Given the description of an element on the screen output the (x, y) to click on. 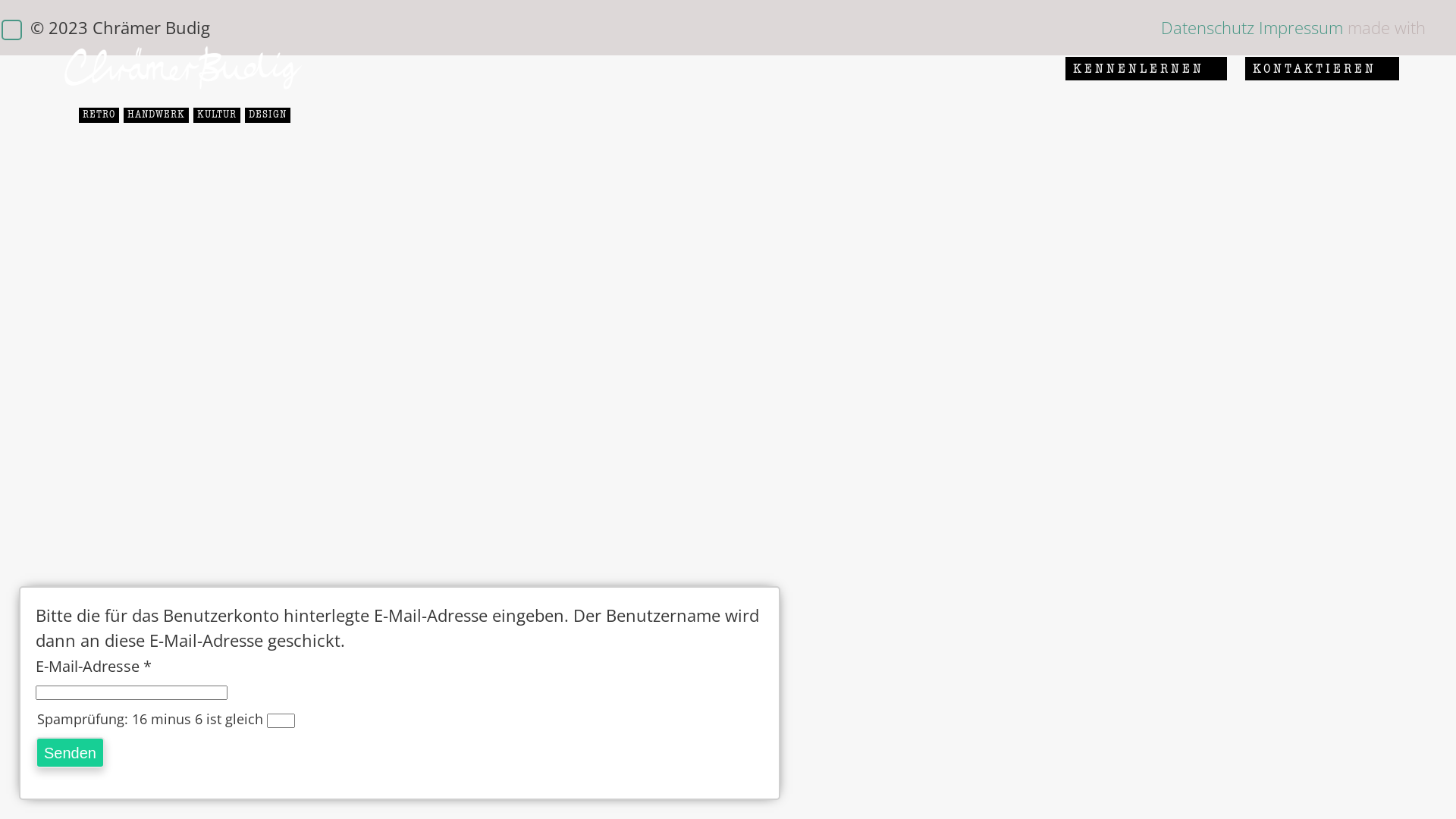
Impressum Element type: text (1300, 26)
Datenschutz Element type: text (1207, 26)
made with Element type: text (1386, 26)
KENNENLERNEN Element type: text (1138, 68)
KONTAKTIEREN Element type: text (1314, 68)
KENNENLERNEN
KONTAKTIEREN Element type: text (1232, 68)
Senden Element type: text (69, 752)
